Given the description of an element on the screen output the (x, y) to click on. 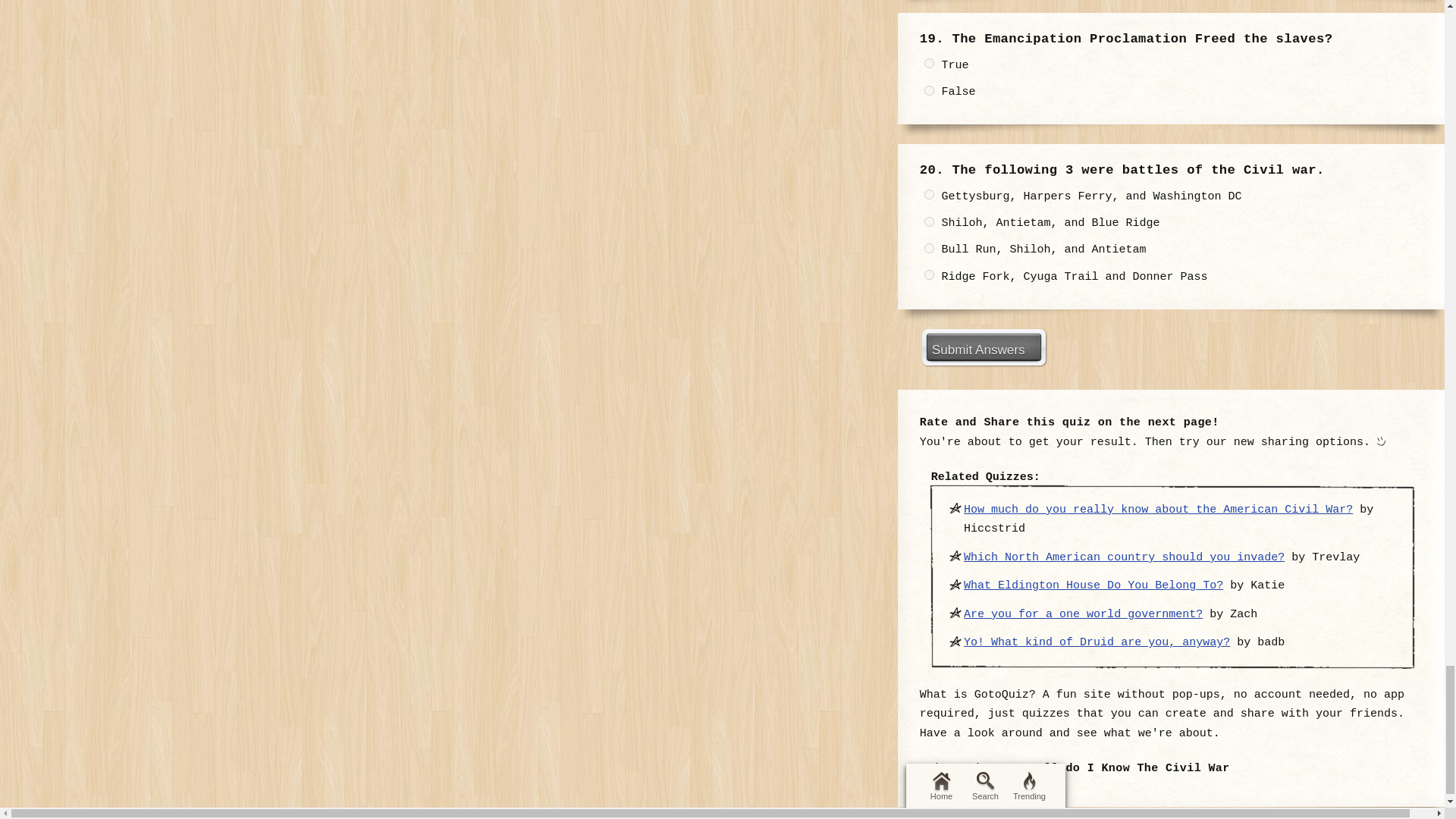
Submit Answers (983, 347)
Yo! What kind of Druid are you, anyway? (1096, 642)
Which North American country should you invade? (1123, 557)
What Eldington House Do You Belong To? (1093, 585)
Are you for a one world government? (1082, 614)
How much do you really know about the American Civil War? (1157, 509)
